Given the description of an element on the screen output the (x, y) to click on. 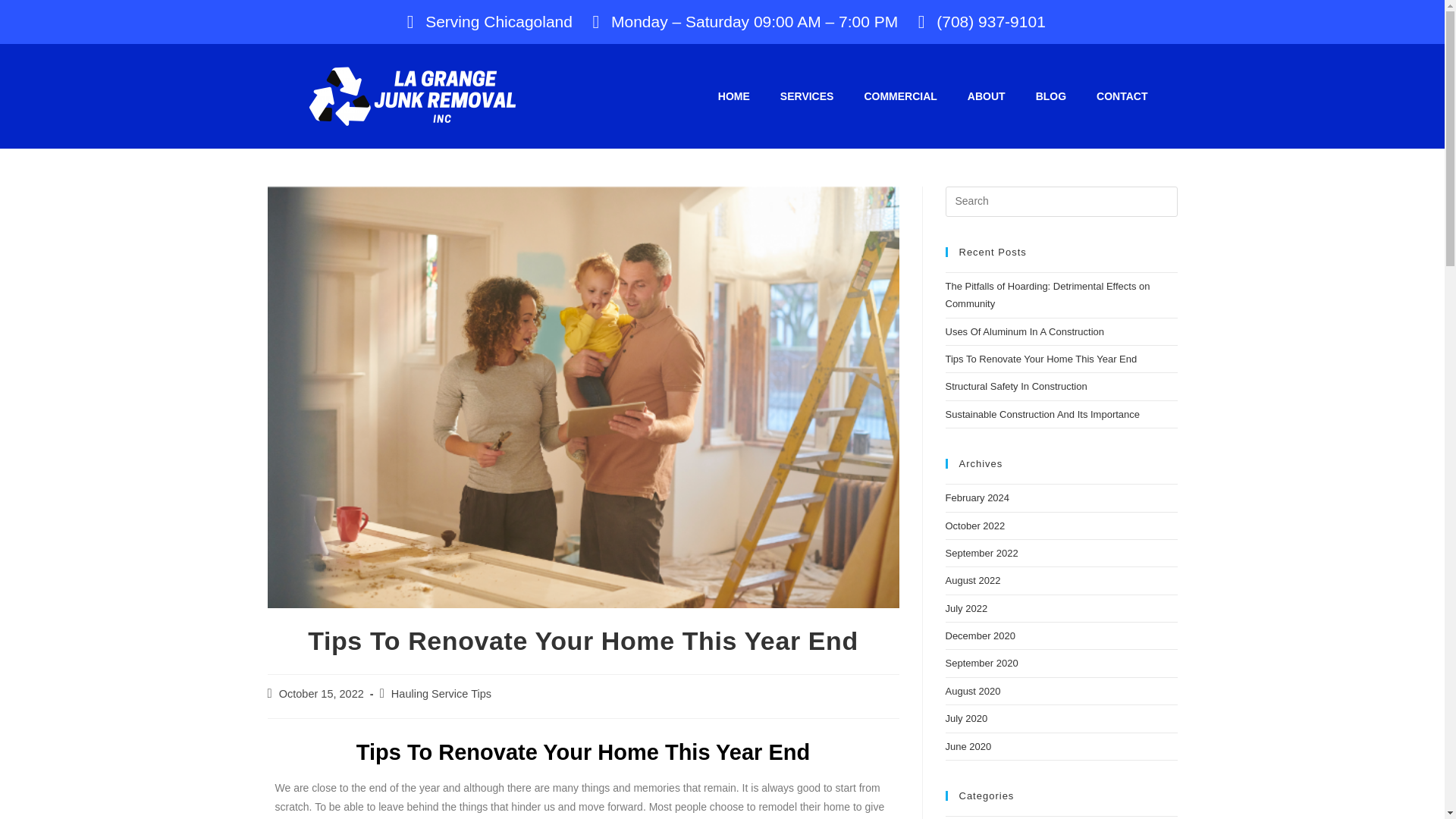
CONTACT (1121, 95)
HOME (734, 95)
BLOG (1050, 95)
ABOUT (986, 95)
COMMERCIAL (900, 95)
SERVICES (806, 95)
